Given the description of an element on the screen output the (x, y) to click on. 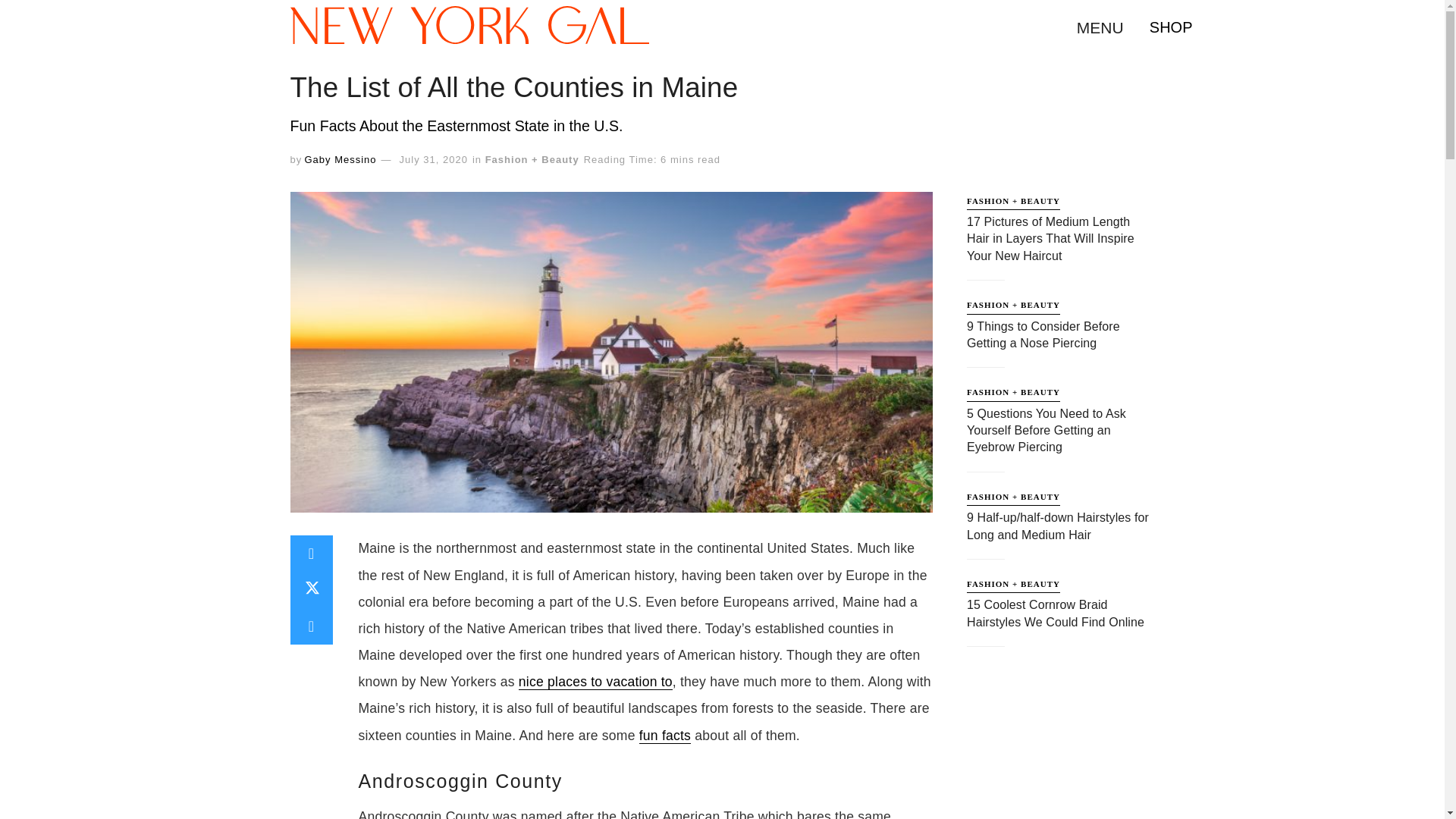
SHOP (1171, 27)
July 31, 2020 (432, 159)
fun facts (664, 735)
Gaby Messino (339, 159)
nice places to vacation to (595, 682)
